Given the description of an element on the screen output the (x, y) to click on. 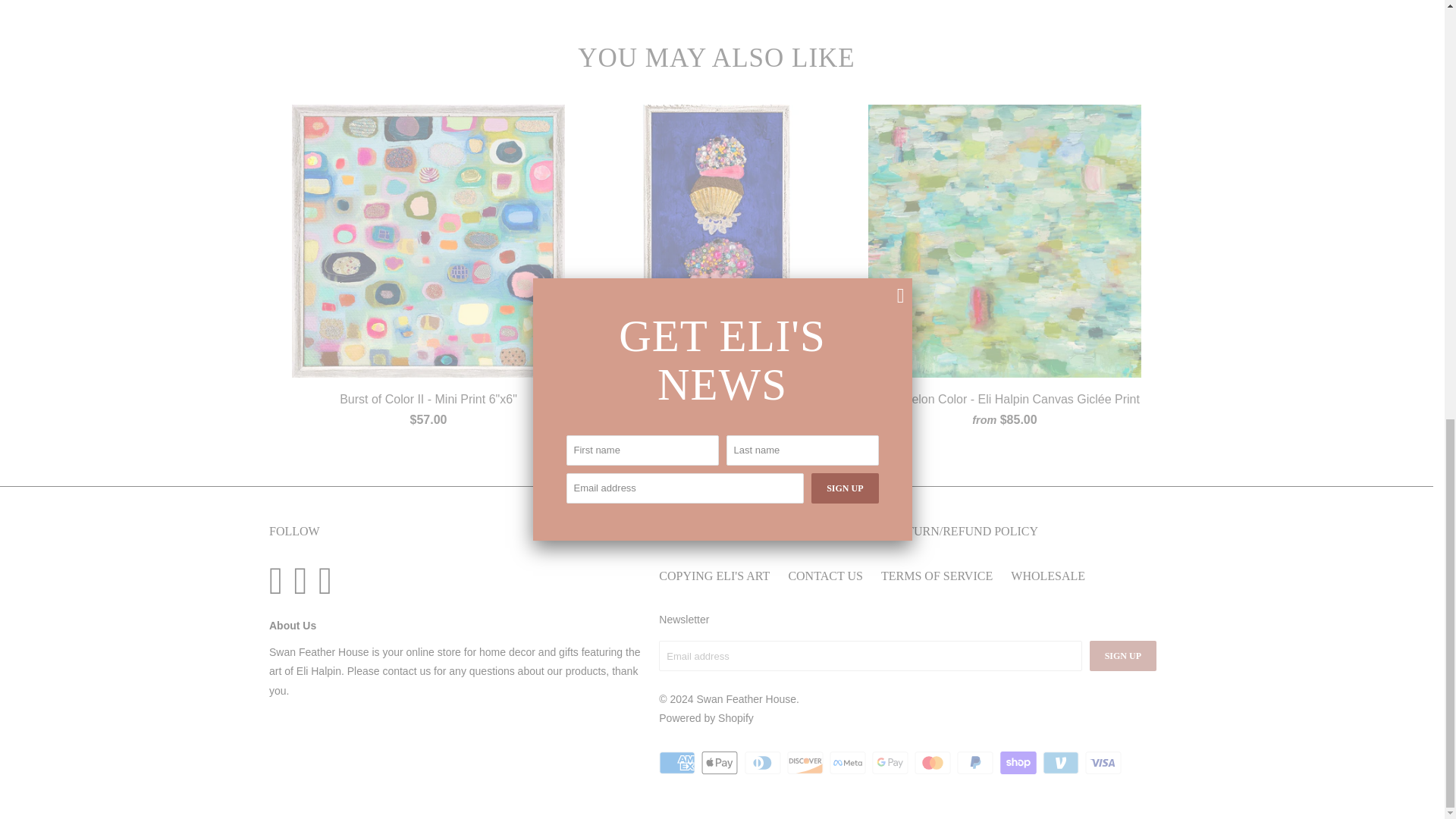
PayPal (975, 762)
Venmo (1061, 762)
Discover (807, 762)
Swan Feather House on Instagram (304, 580)
Visa (1104, 762)
Shop Pay (1019, 762)
Mastercard (933, 762)
Apple Pay (721, 762)
American Express (678, 762)
Email Swan Feather House (328, 580)
Sign Up (1122, 655)
Meta Pay (849, 762)
Google Pay (891, 762)
Diners Club (764, 762)
Swan Feather House on Facebook (279, 580)
